Given the description of an element on the screen output the (x, y) to click on. 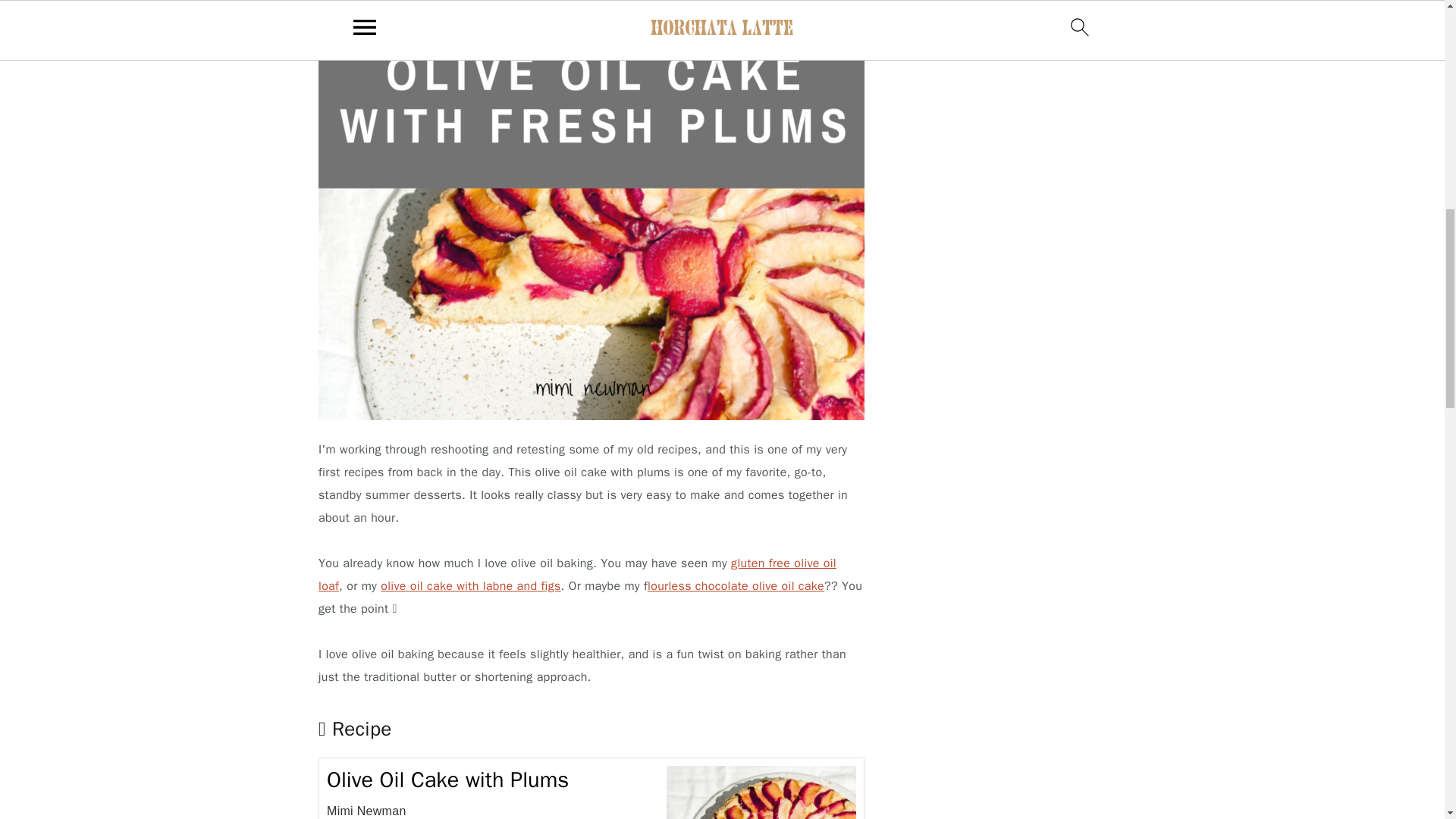
olive oil cake with labne and figs (470, 585)
gluten free olive oil loaf (576, 574)
lourless chocolate olive oil cake (735, 585)
